Given the description of an element on the screen output the (x, y) to click on. 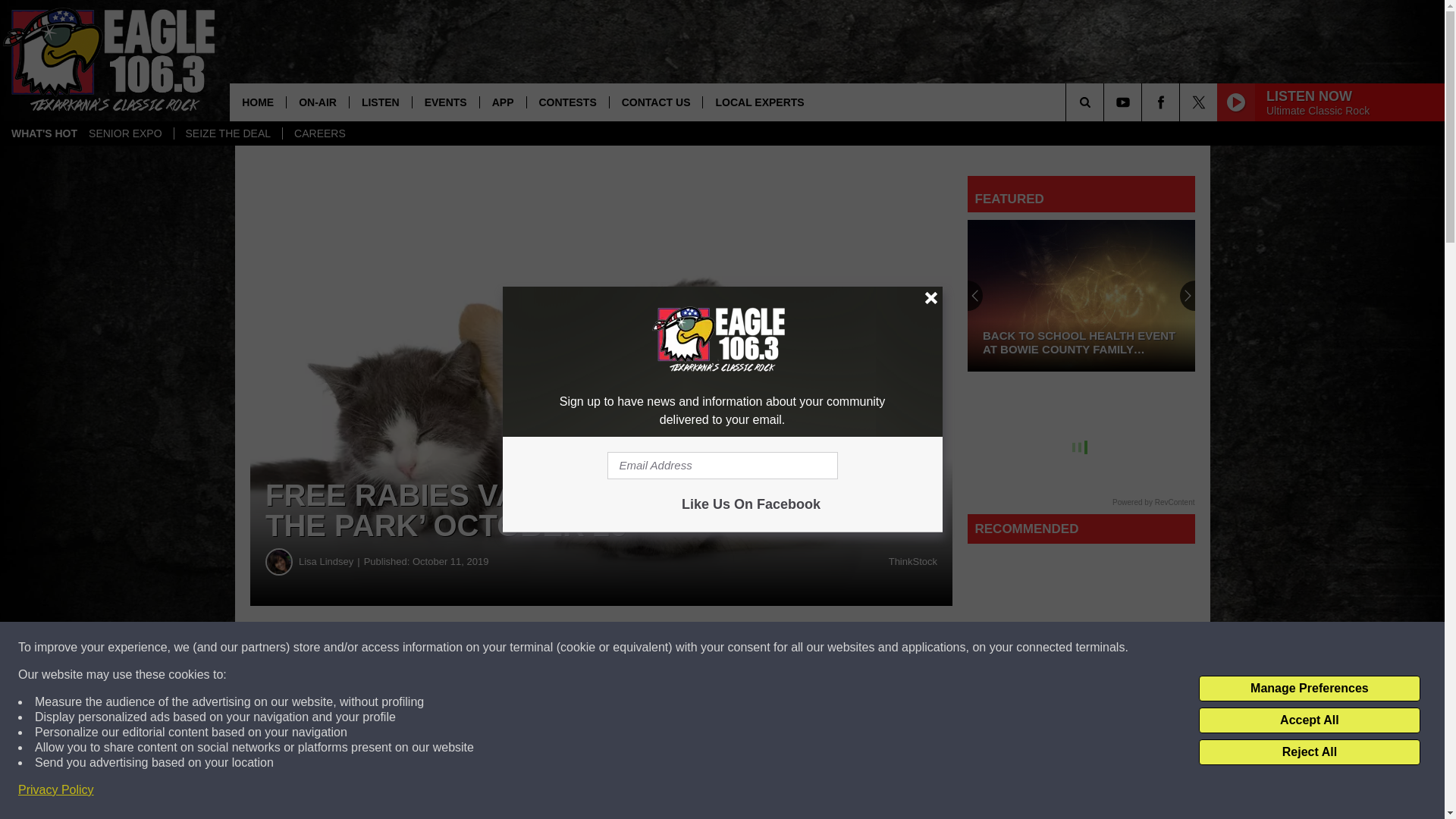
Manage Preferences (1309, 688)
Reject All (1309, 751)
Share on Twitter (741, 647)
Accept All (1309, 720)
SEARCH (1106, 102)
CONTESTS (566, 102)
Email Address (722, 465)
CAREERS (319, 133)
SEARCH (1106, 102)
SENIOR EXPO (125, 133)
APP (502, 102)
EVENTS (445, 102)
SEIZE THE DEAL (227, 133)
HOME (257, 102)
LISTEN (380, 102)
